Given the description of an element on the screen output the (x, y) to click on. 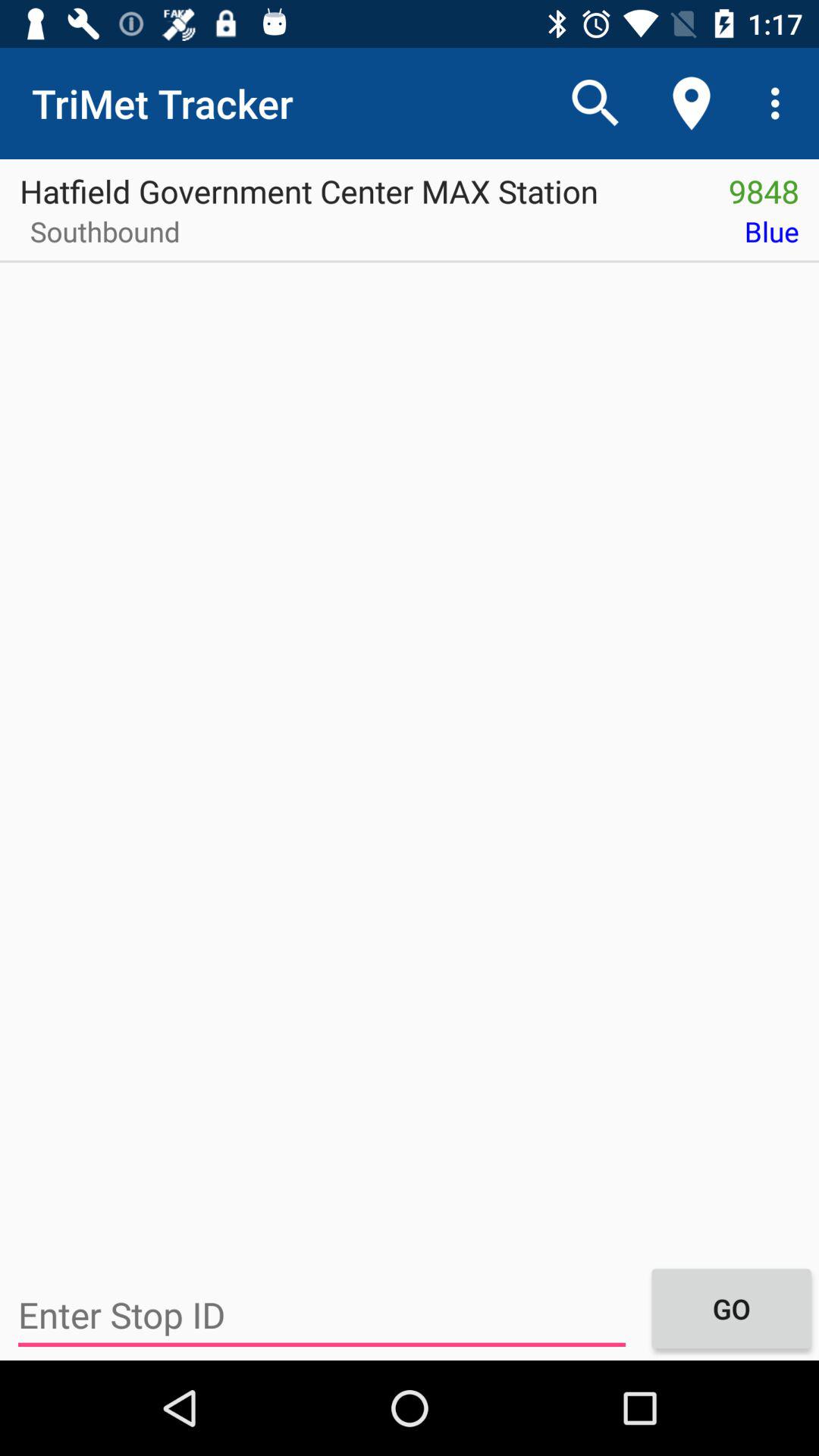
launch item to the left of 9848 (354, 185)
